Given the description of an element on the screen output the (x, y) to click on. 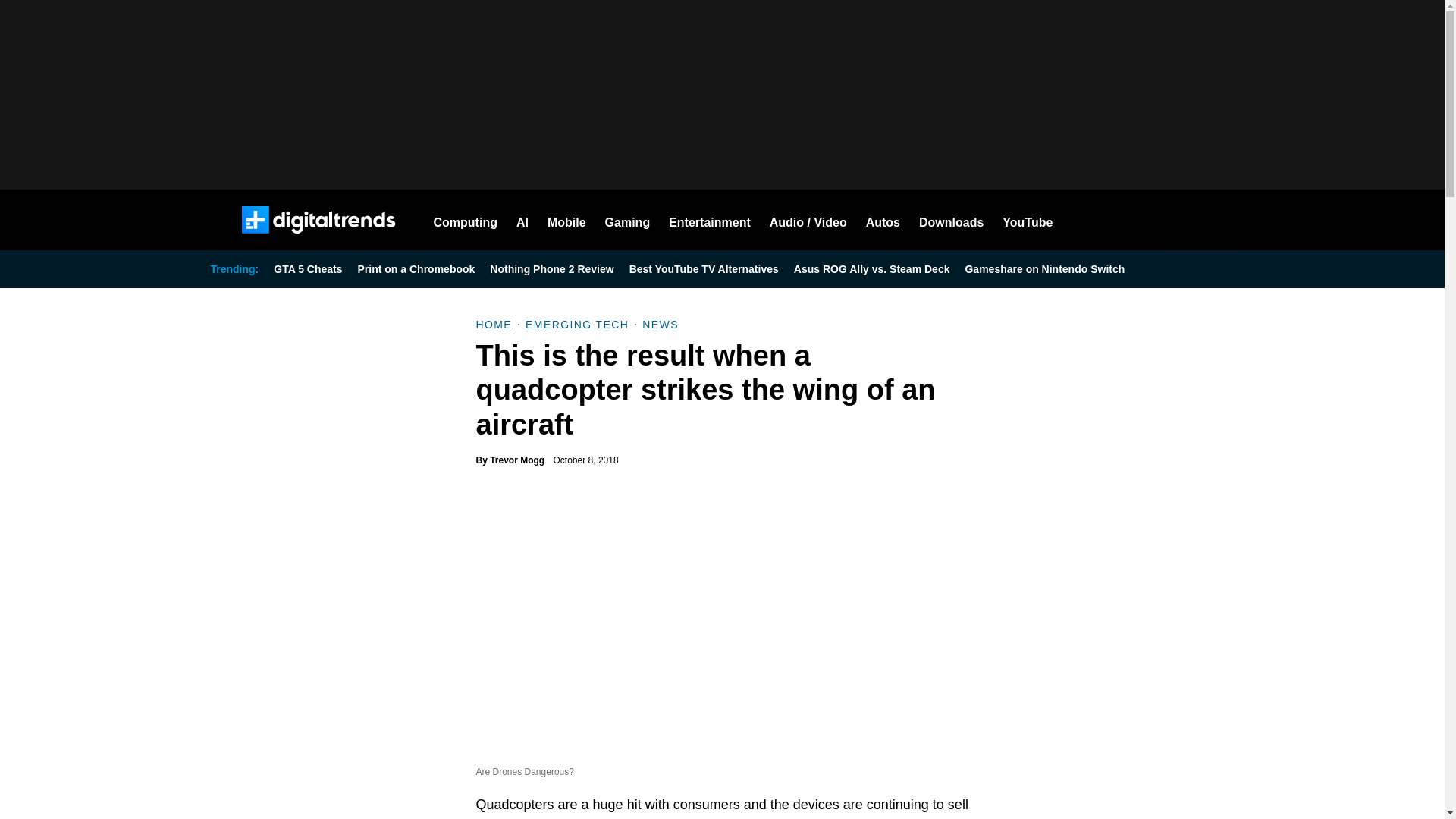
Autos (882, 219)
Downloads (951, 219)
AI (522, 219)
Entertainment (709, 219)
Computing (465, 219)
YouTube (1027, 219)
Mobile (566, 219)
Gaming (627, 219)
